Given the description of an element on the screen output the (x, y) to click on. 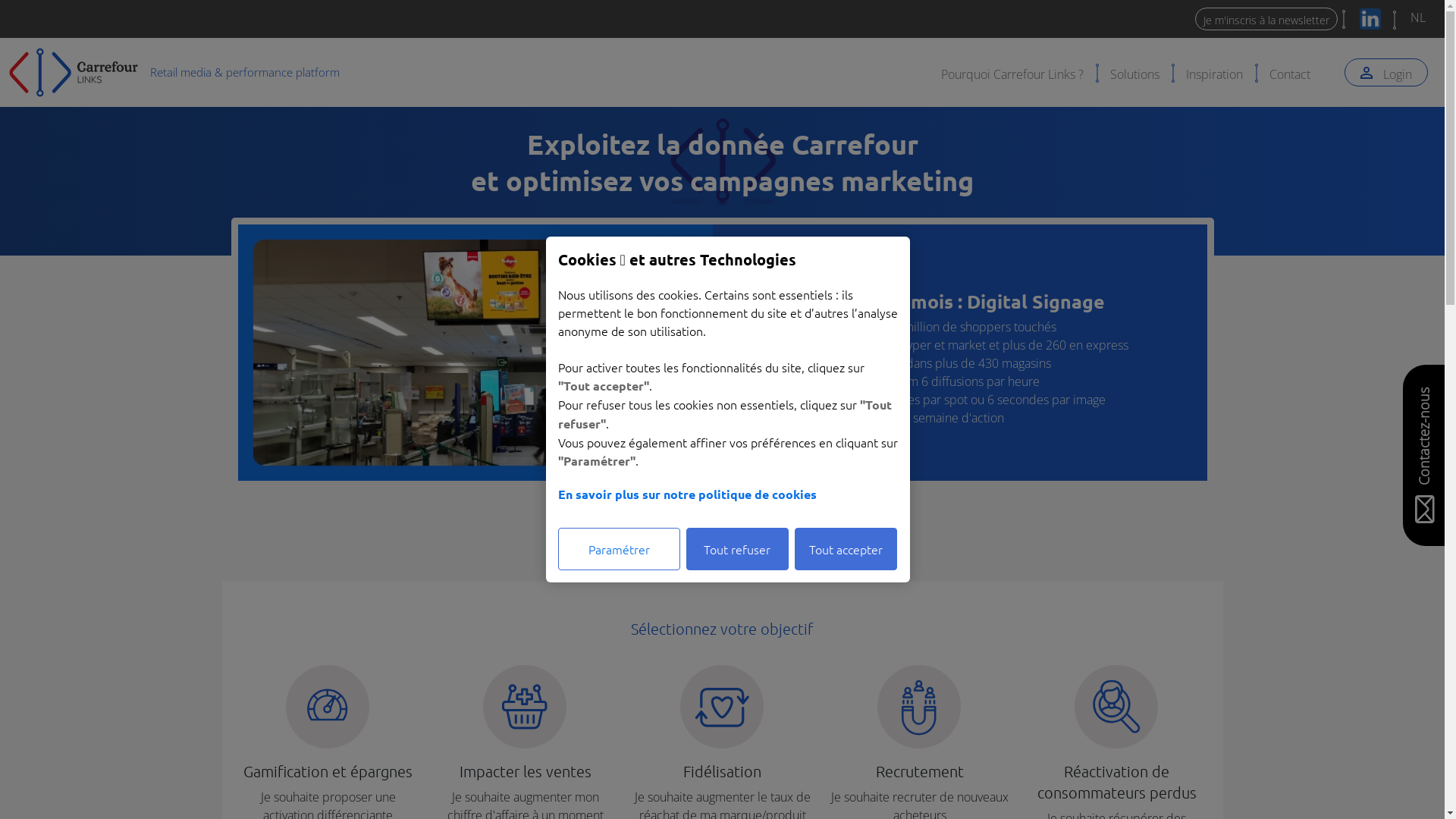
Highlight du mois : Digital Signage Element type: text (949, 300)
Pourquoi Carrefour Links ? Element type: text (1012, 72)
Solutions Element type: text (1134, 72)
Highlight du mois : Digital Signage Element type: hover (475, 350)
NL Element type: text (1417, 17)
Inspiration Element type: text (1214, 72)
Tout accepter Element type: text (845, 548)
En savoir plus sur notre politique de cookies Element type: text (727, 494)
Contact Element type: text (1289, 72)
Tout refuser Element type: text (737, 548)
Login Element type: text (1385, 72)
